Given the description of an element on the screen output the (x, y) to click on. 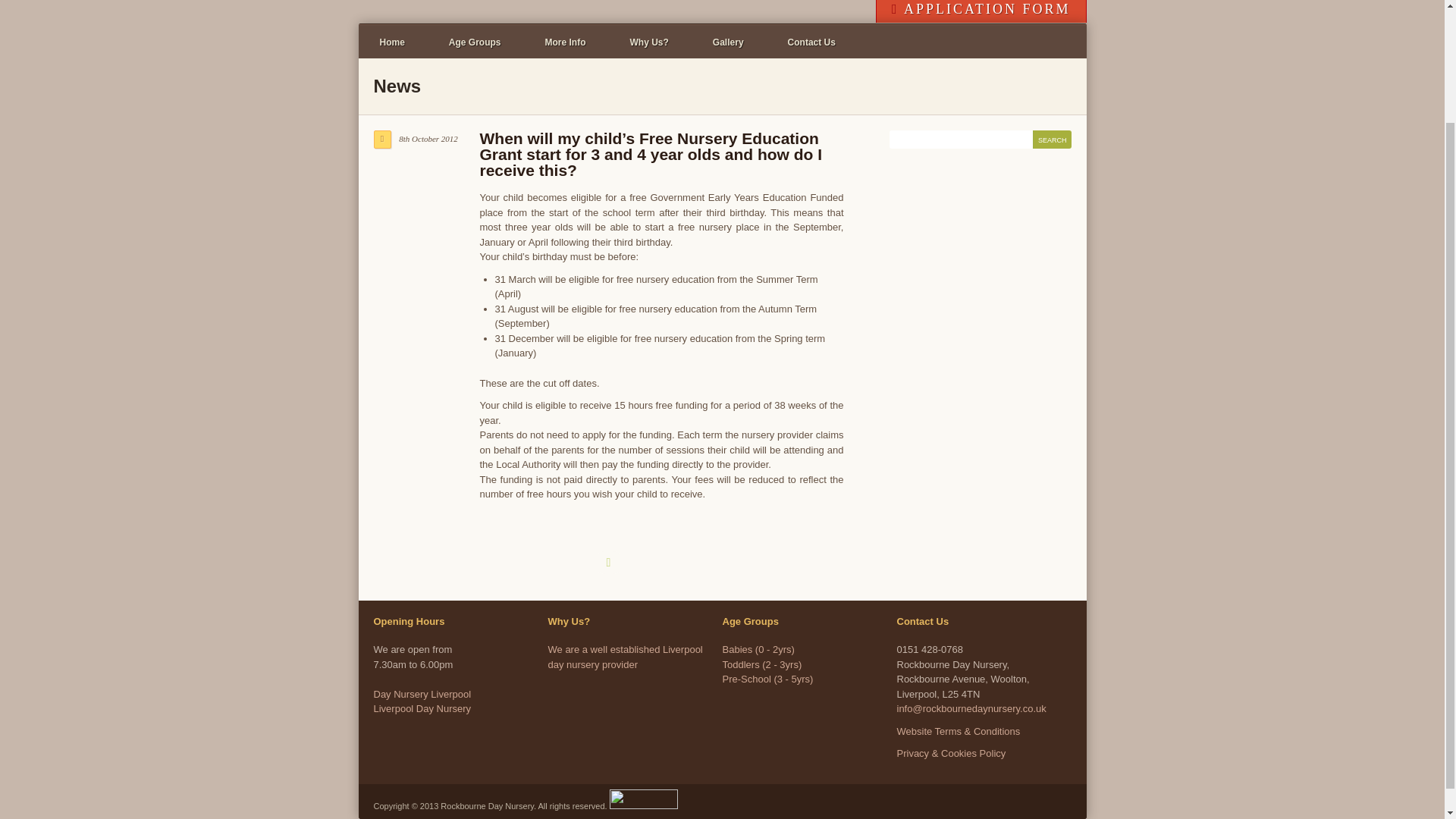
More Info (565, 42)
APPLICATION FORM (981, 11)
Search (1051, 139)
Age Groups (475, 42)
Contact Us (812, 42)
Home (391, 42)
We are a well established Liverpool day nursery provider (624, 656)
Rockbourne Day Nursery (722, 13)
Search (421, 701)
